Given the description of an element on the screen output the (x, y) to click on. 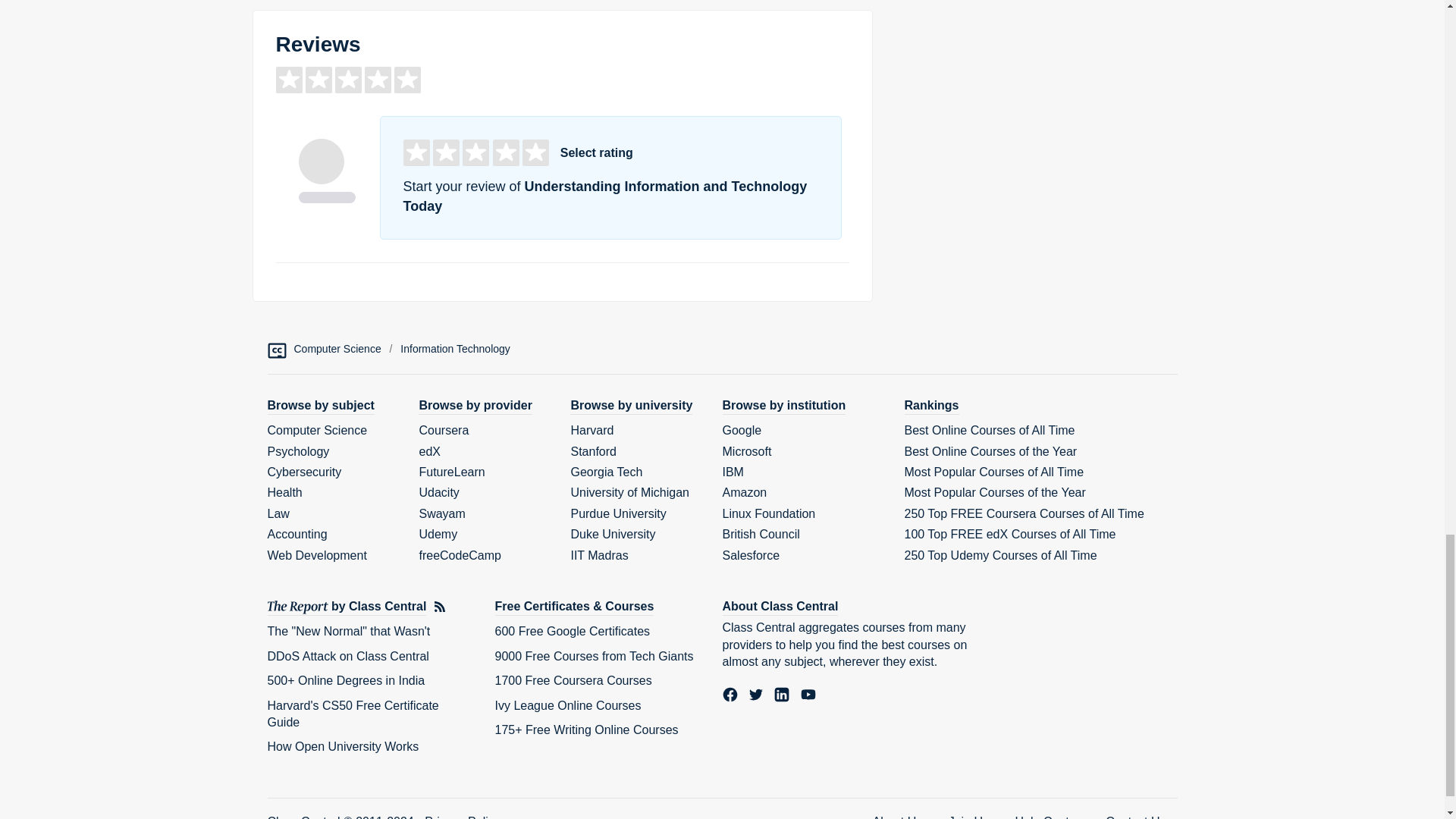
1700 Free Coursera Courses (572, 680)
Ivy League Online Courses (567, 705)
The "New Normal" that Wasn't (347, 631)
Free Courses and Certificates (574, 606)
DDoS Attack on Class Central (347, 656)
600 Free Google Certificates (572, 631)
How Open University Works (342, 746)
9000 Free Courses from Tech Giants (594, 656)
Harvard's CS50 Free Certificate Guide (352, 713)
